Given the description of an element on the screen output the (x, y) to click on. 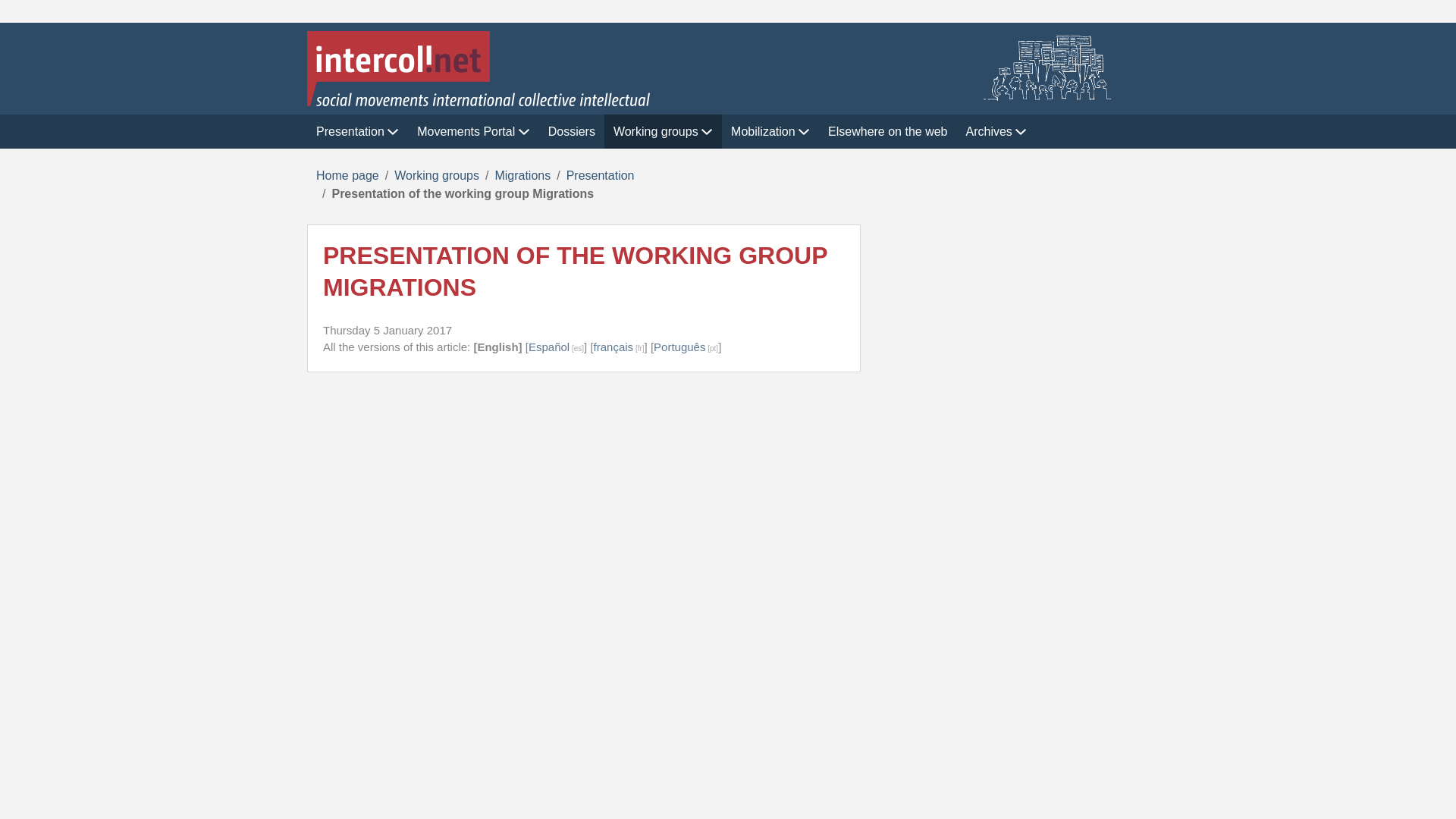
Dossiers (571, 131)
Se rendre sur la page de cette rubrique (436, 174)
Movements Portal (472, 131)
Working groups (663, 131)
Presentation (357, 131)
Home (727, 68)
Se rendre sur la page de cette rubrique (522, 174)
Se rendre sur la page de cette rubrique (600, 174)
